Given the description of an element on the screen output the (x, y) to click on. 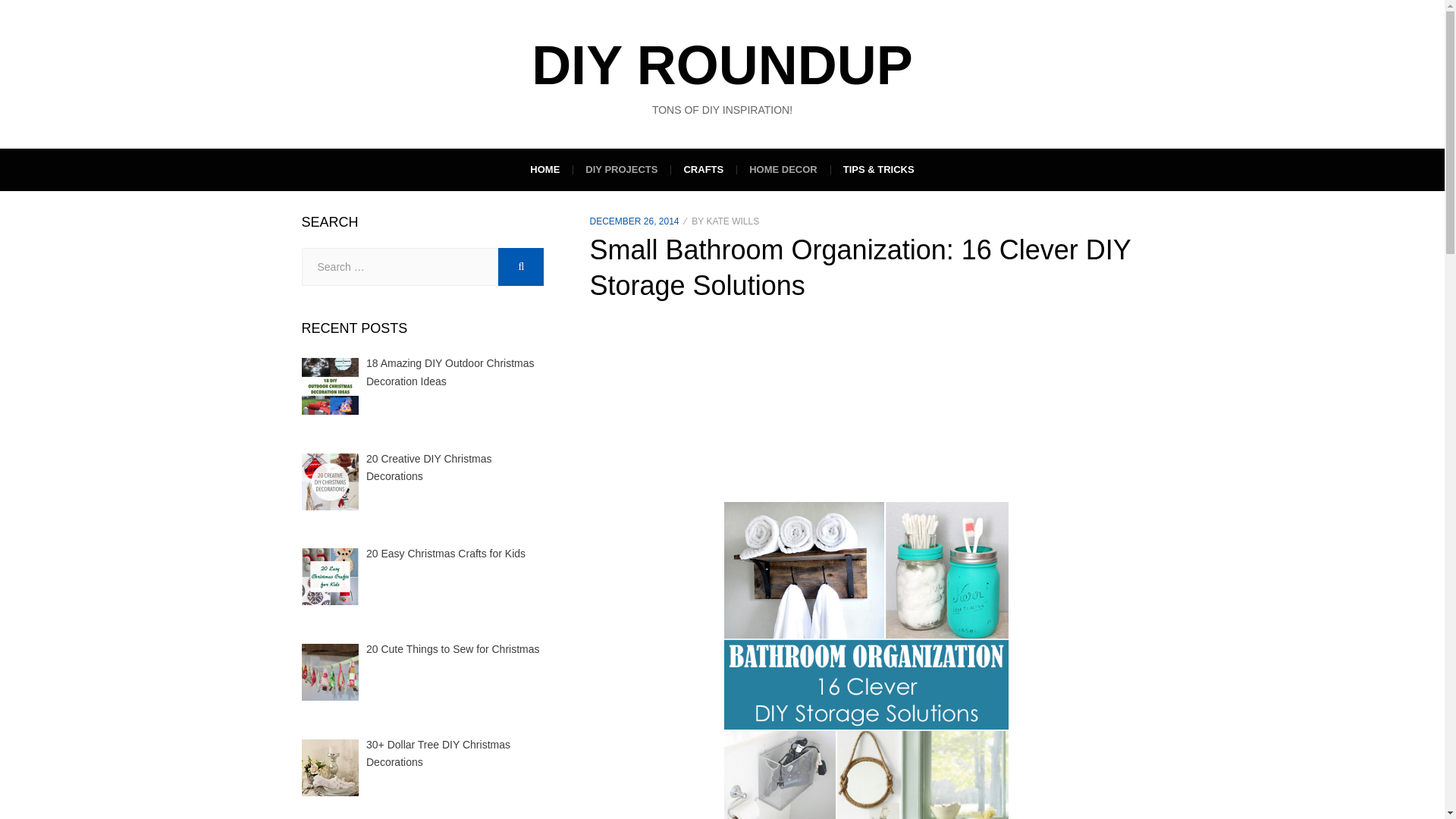
20 Easy Christmas Crafts for Kids (445, 553)
DECEMBER 26, 2014 (633, 221)
HOME (544, 169)
HOME DECOR (782, 169)
SEARCH (520, 266)
CRAFTS (702, 169)
20 Creative DIY Christmas Decorations (429, 467)
DIY Roundup (721, 65)
KATE WILLS (732, 221)
18 Amazing DIY Outdoor Christmas Decoration Ideas (450, 372)
Search for: (400, 266)
DIY ROUNDUP (721, 65)
DIY PROJECTS (620, 169)
